Given the description of an element on the screen output the (x, y) to click on. 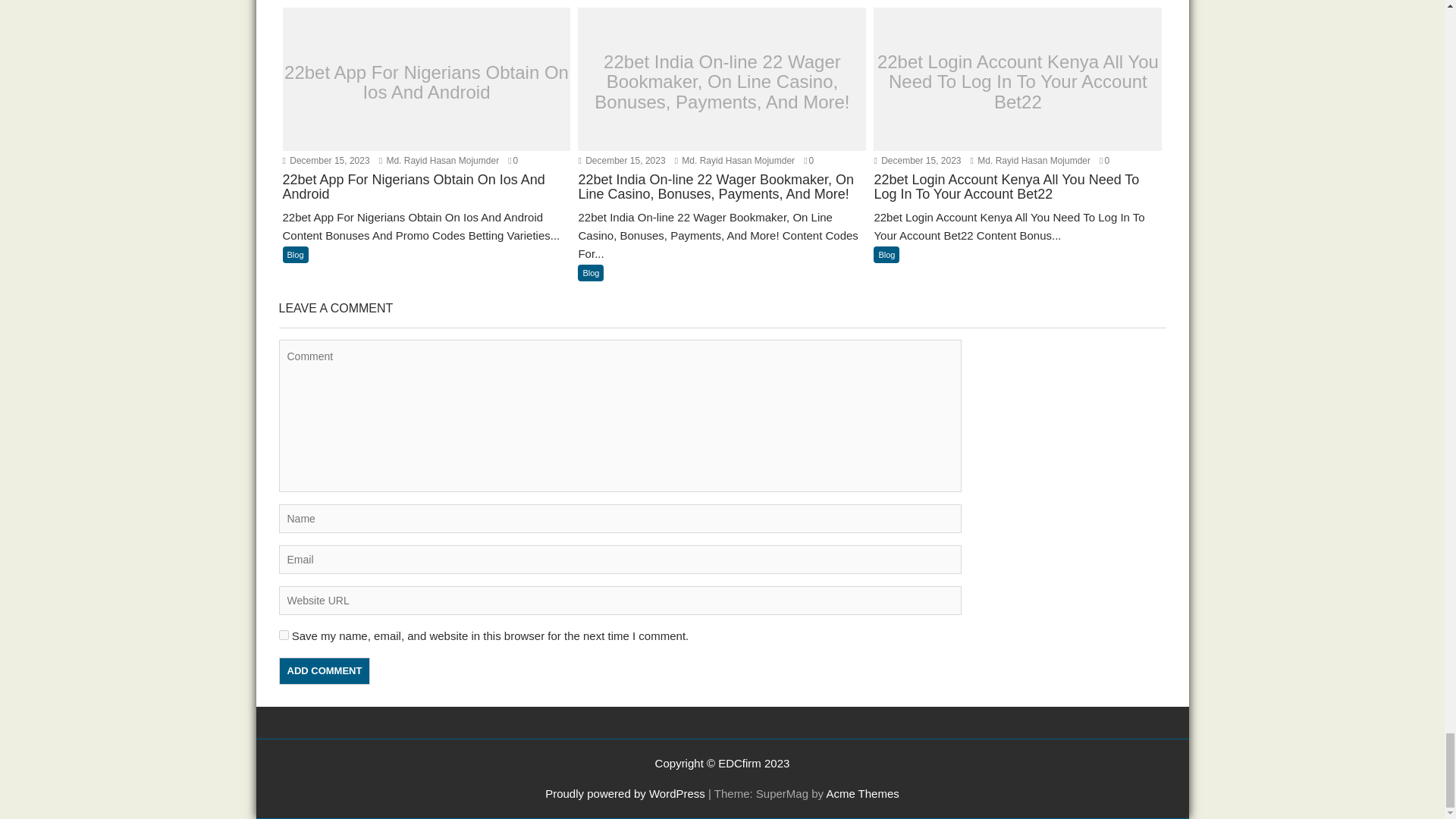
December 15, 2023 (621, 160)
0 (513, 160)
Md. Rayid Hasan Mojumder (734, 160)
Md. Rayid Hasan Mojumder (1030, 160)
Blog (294, 254)
Add Comment (325, 670)
Md. Rayid Hasan Mojumder (438, 160)
Blog (591, 272)
Md. Rayid Hasan Mojumder (438, 160)
0 (808, 160)
December 15, 2023 (325, 160)
yes (283, 634)
Md. Rayid Hasan Mojumder (734, 160)
